Given the description of an element on the screen output the (x, y) to click on. 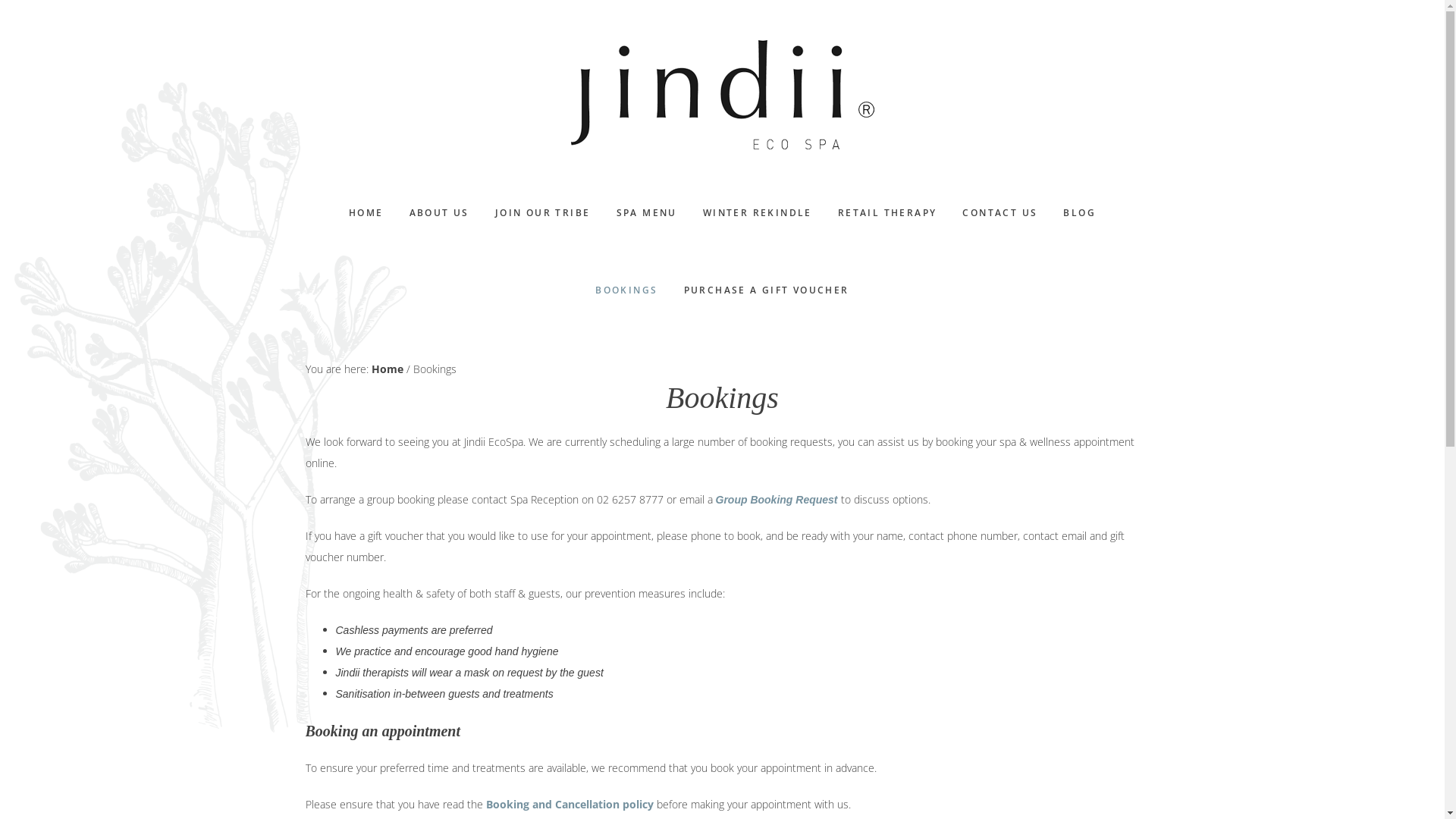
Skip to main content Element type: text (0, 0)
Group Booking Request Element type: text (776, 499)
JOIN OUR TRIBE Element type: text (542, 212)
HOME Element type: text (366, 212)
RETAIL THERAPY Element type: text (887, 212)
BOOKINGS Element type: text (625, 290)
CONTACT US Element type: text (999, 212)
SPA MENU Element type: text (646, 212)
Home Element type: text (387, 368)
Booking and Cancellation policy Element type: text (568, 804)
BLOG Element type: text (1079, 212)
WINTER REKINDLE Element type: text (757, 212)
ABOUT US Element type: text (439, 212)
PURCHASE A GIFT VOUCHER Element type: text (765, 290)
Jindii EcoSpa Element type: text (721, 94)
